Given the description of an element on the screen output the (x, y) to click on. 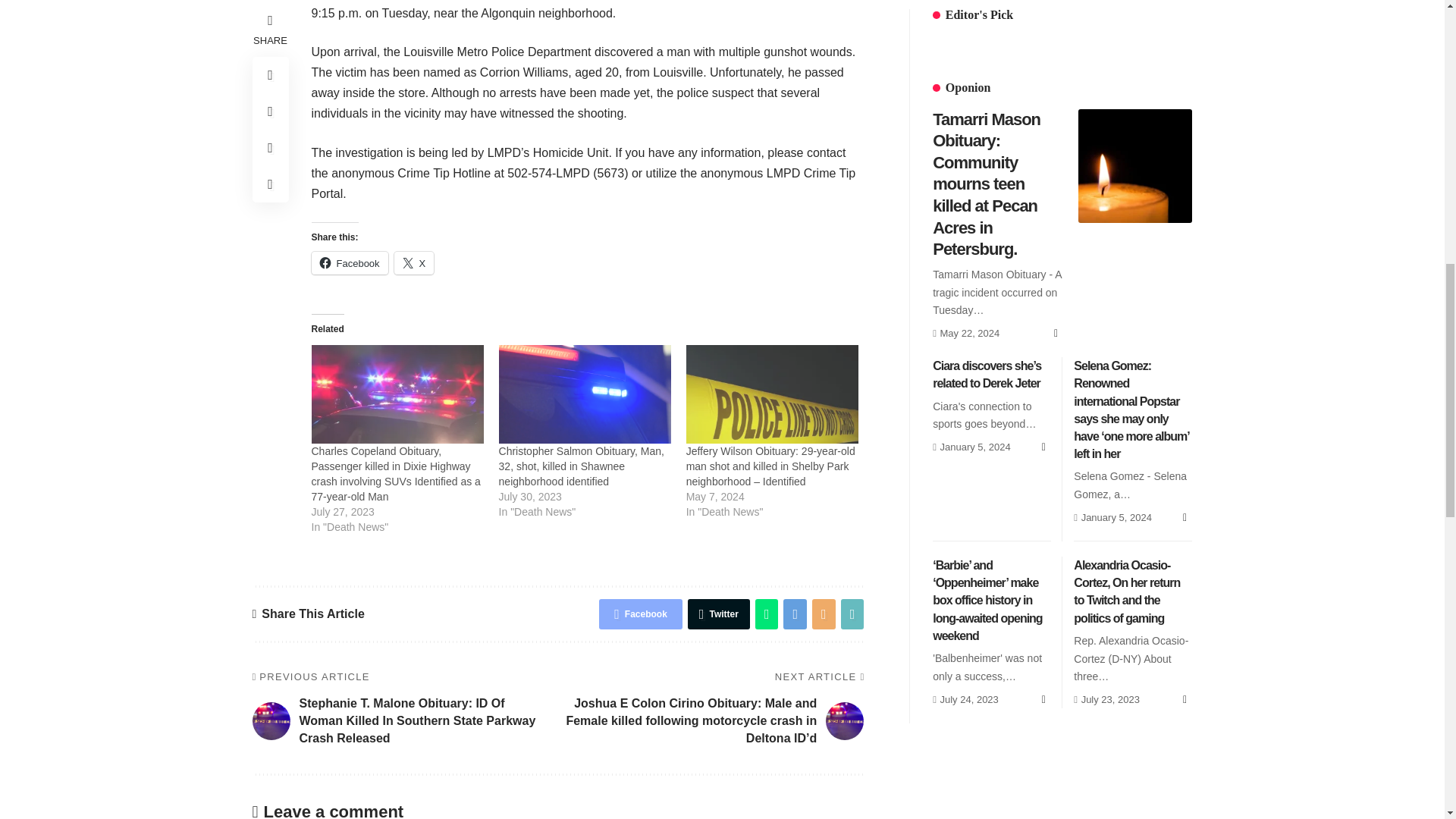
Click to share on Facebook (349, 262)
Click to share on X (413, 262)
